Given the description of an element on the screen output the (x, y) to click on. 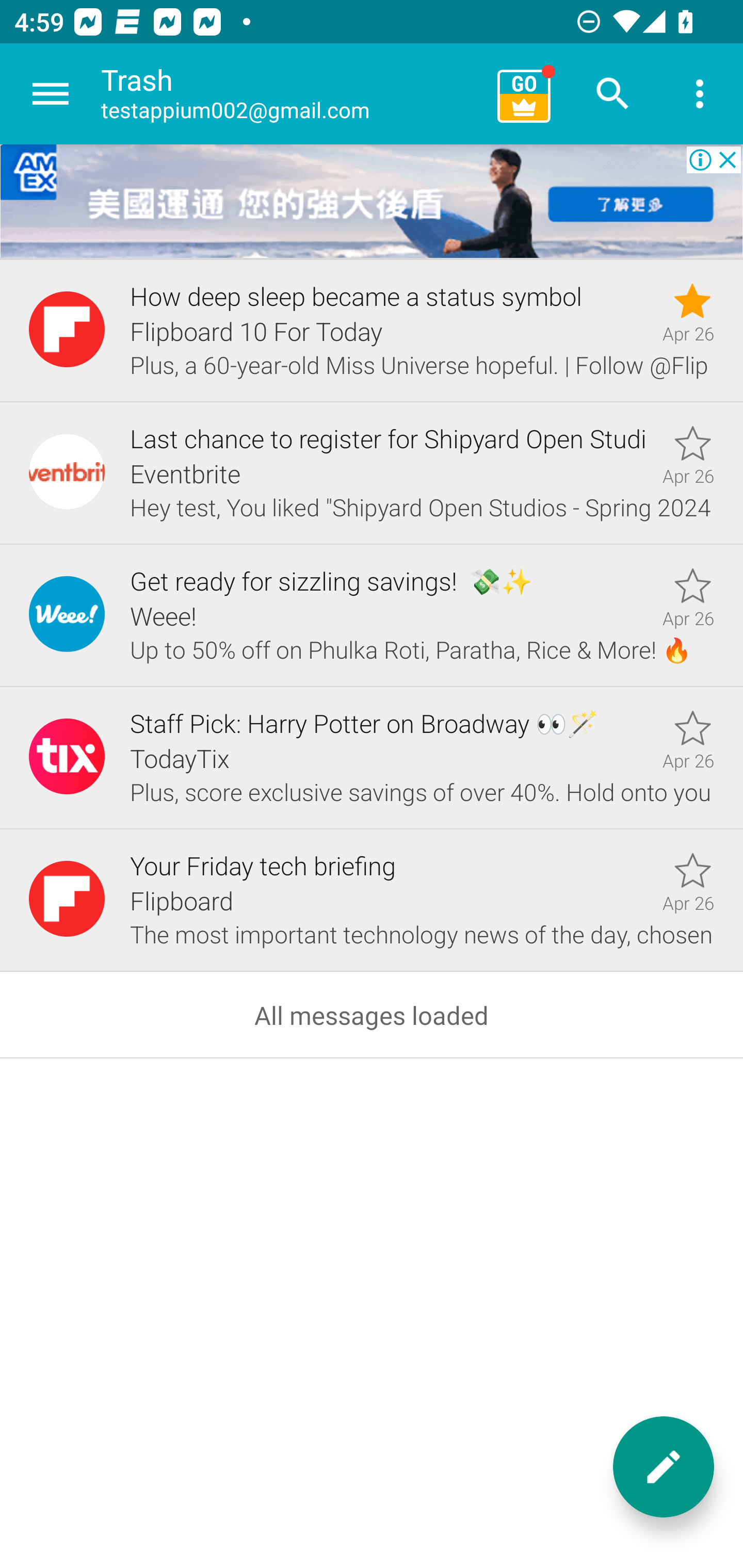
Navigate up (50, 93)
Trash testappium002@gmail.com (291, 93)
Search (612, 93)
More options (699, 93)
All messages loaded (371, 1015)
New message (663, 1466)
